Given the description of an element on the screen output the (x, y) to click on. 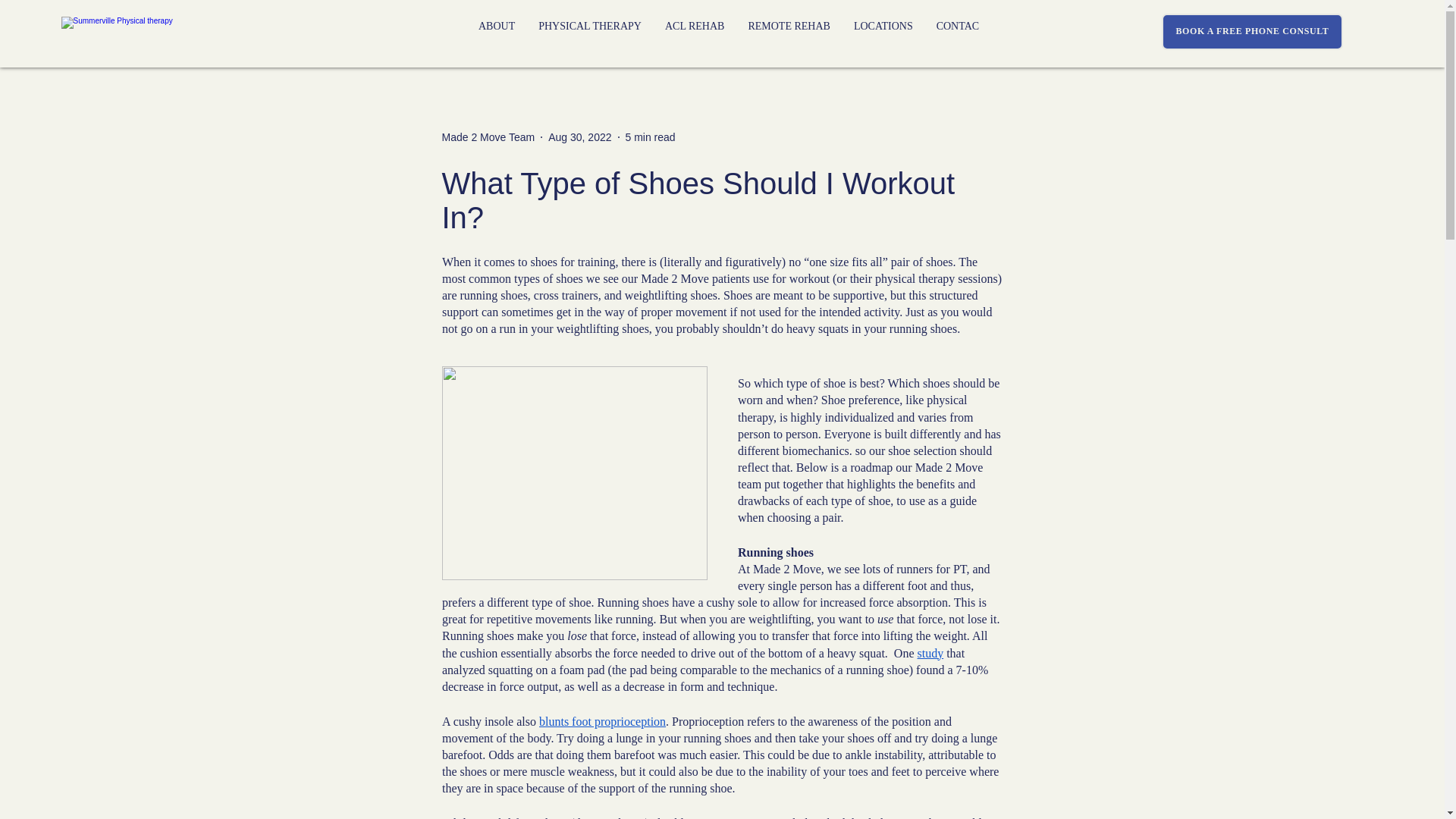
Aug 30, 2022 (579, 136)
blunts foot proprioception (601, 721)
REMOTE REHAB (788, 33)
Made 2 Move Team (487, 136)
5 min read (649, 136)
CONTACT (960, 33)
Made 2 Move Team (487, 136)
BOOK A FREE PHONE CONSULT (1251, 31)
ACL REHAB (693, 33)
PHYSICAL THERAPY (588, 33)
